Given the description of an element on the screen output the (x, y) to click on. 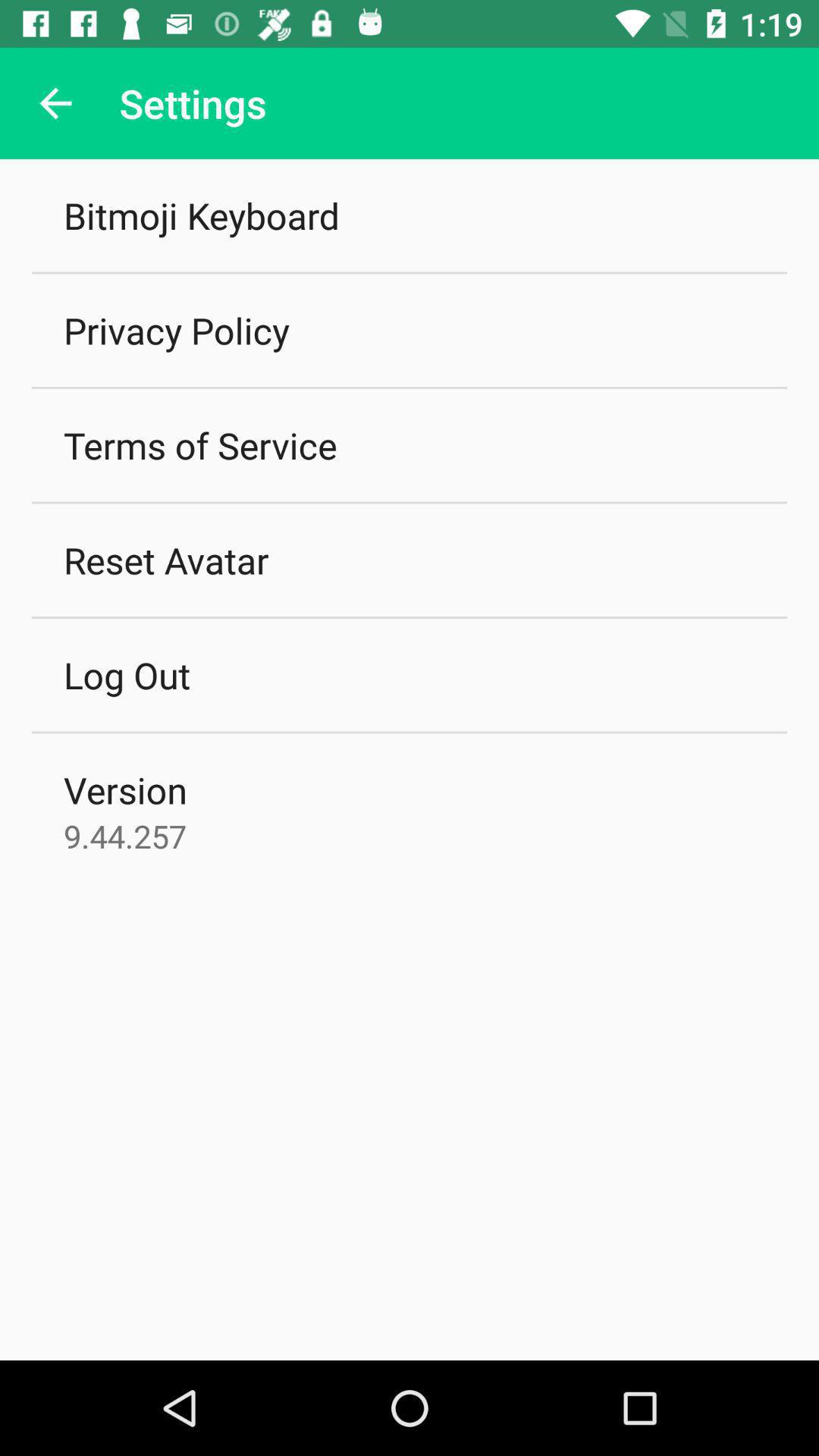
select icon below bitmoji keyboard icon (176, 329)
